Given the description of an element on the screen output the (x, y) to click on. 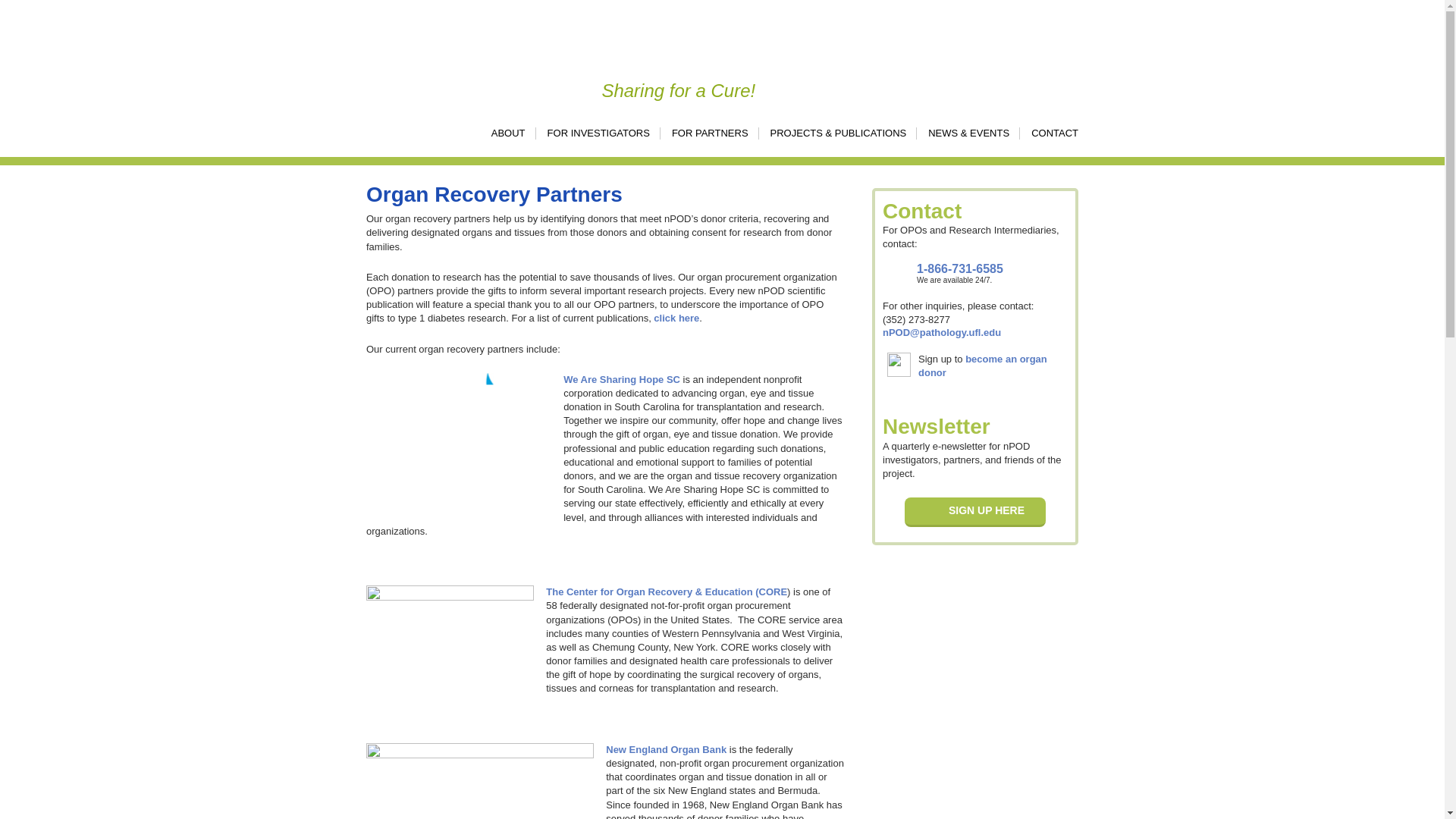
nPOD e-Newsletter Sign Up Form (974, 512)
Publication List (675, 317)
ABOUT (502, 133)
FOR PARTNERS (703, 133)
click here (675, 317)
We Are Sharing Hope SC (621, 378)
FOR INVESTIGATORS (592, 133)
CONTACT (1048, 133)
JDRF nPOD (431, 45)
JDRF nPOD (431, 45)
